Given the description of an element on the screen output the (x, y) to click on. 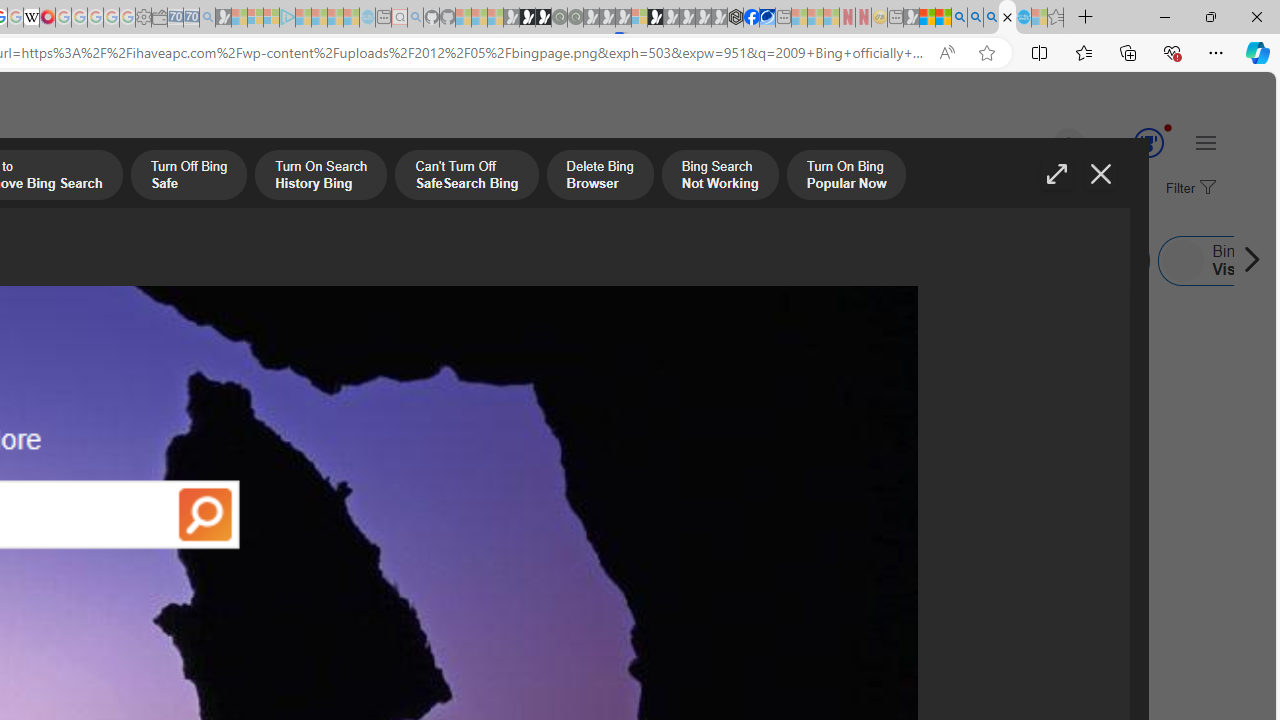
Close image (1100, 173)
Owner of Bing Search Engine (680, 260)
Microsoft Rewards 84 (1130, 143)
MediaWiki (47, 17)
MSN - Sleeping (911, 17)
Class: item col (1069, 260)
Delete Bing Browser (600, 177)
